Given the description of an element on the screen output the (x, y) to click on. 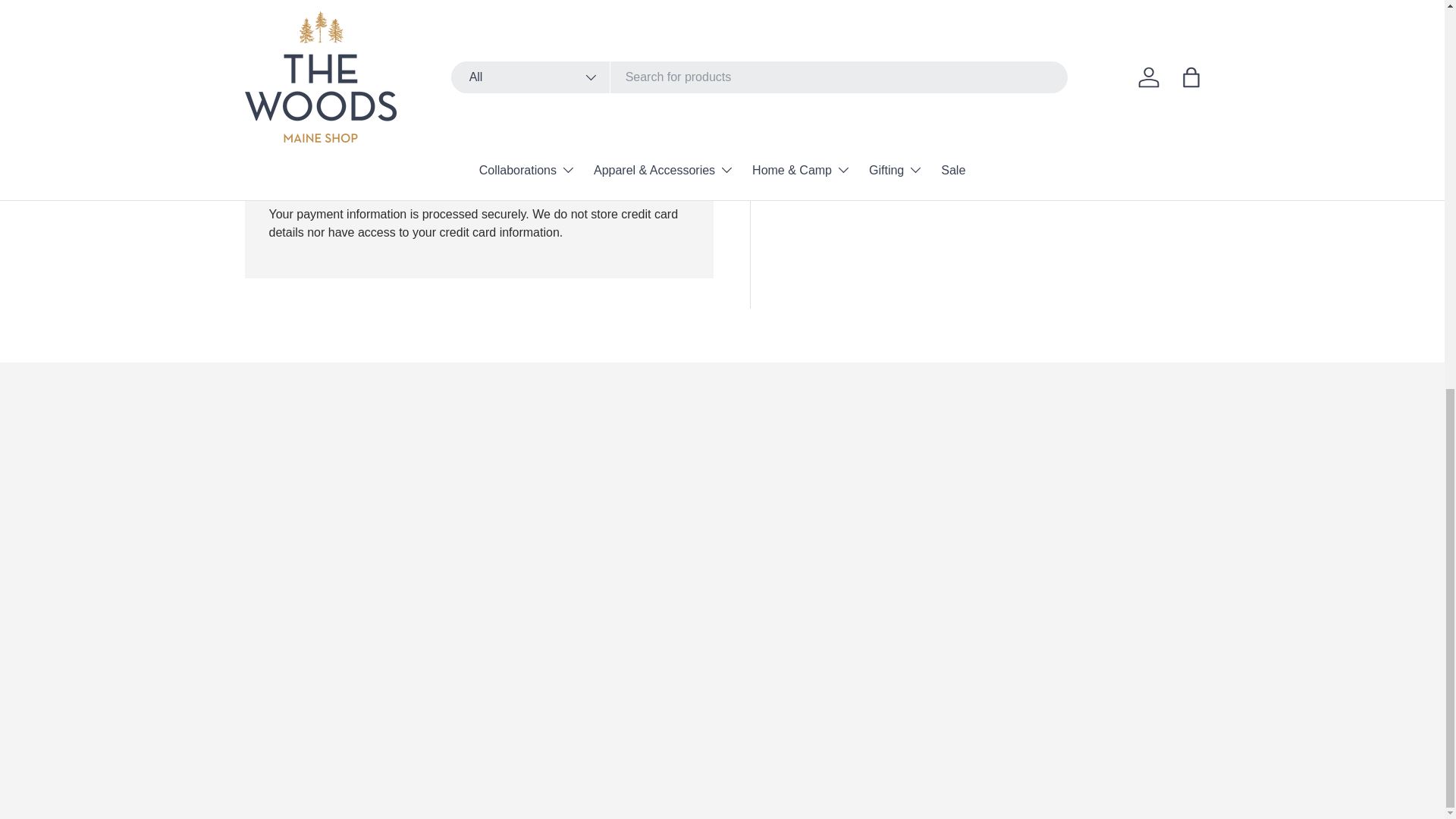
Apple Pay (311, 178)
Visa (570, 178)
Diners Club (340, 178)
Meta Pay (398, 178)
Google Pay (426, 178)
American Express (282, 178)
Discover (369, 178)
PayPal (484, 178)
1 (848, 4)
Shop Pay (513, 178)
Venmo (541, 178)
Mastercard (455, 178)
